Given the description of an element on the screen output the (x, y) to click on. 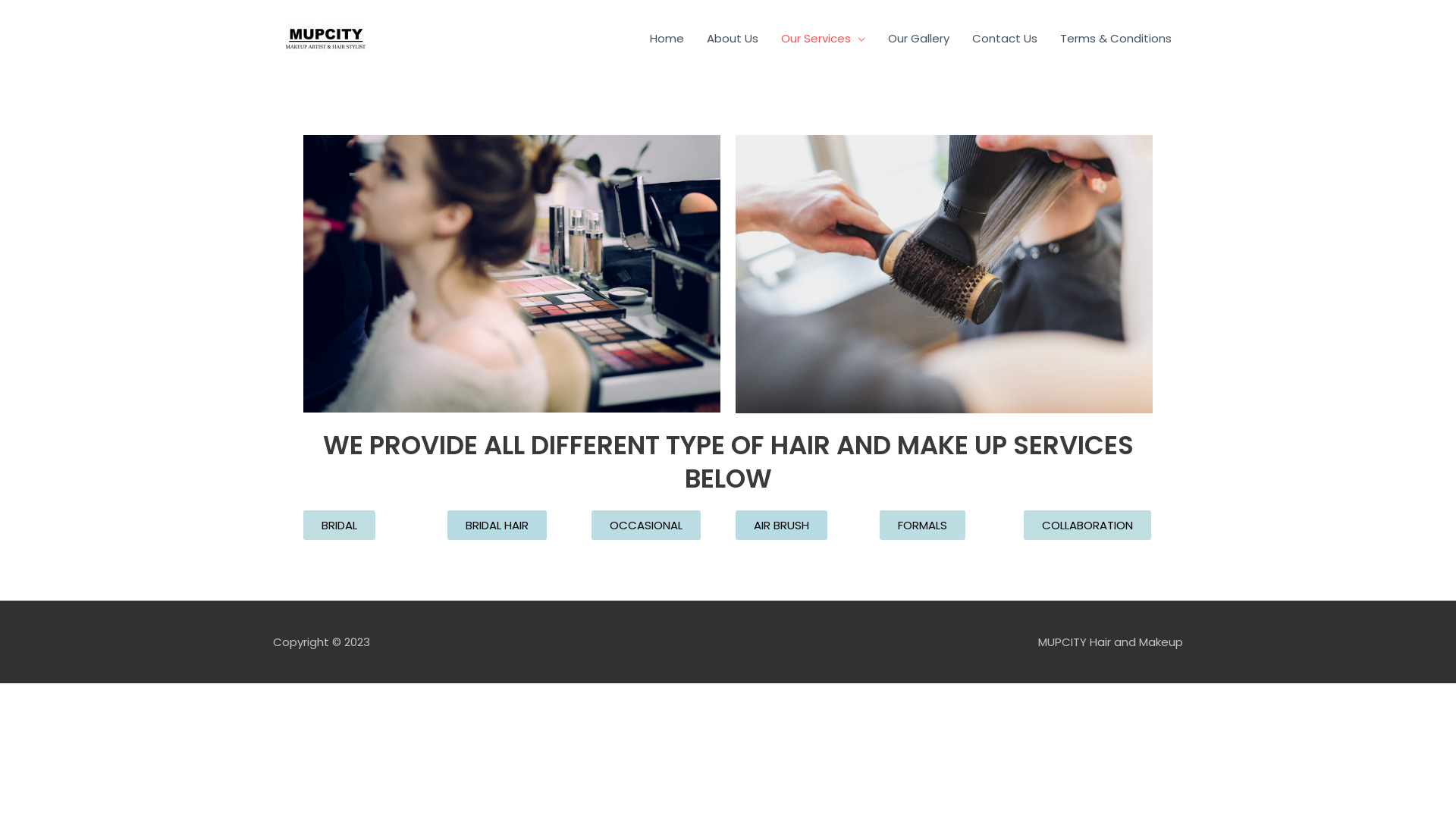
Contact Us Element type: text (1004, 38)
Our Services Element type: text (822, 38)
About Us Element type: text (732, 38)
Home Element type: text (666, 38)
BRIDAL Element type: text (339, 524)
Terms & Conditions Element type: text (1115, 38)
AIR BRUSH Element type: text (781, 524)
FORMALS Element type: text (922, 524)
COLLABORATION Element type: text (1087, 524)
OCCASIONAL Element type: text (645, 524)
Our Gallery Element type: text (918, 38)
BRIDAL HAIR Element type: text (496, 524)
